Given the description of an element on the screen output the (x, y) to click on. 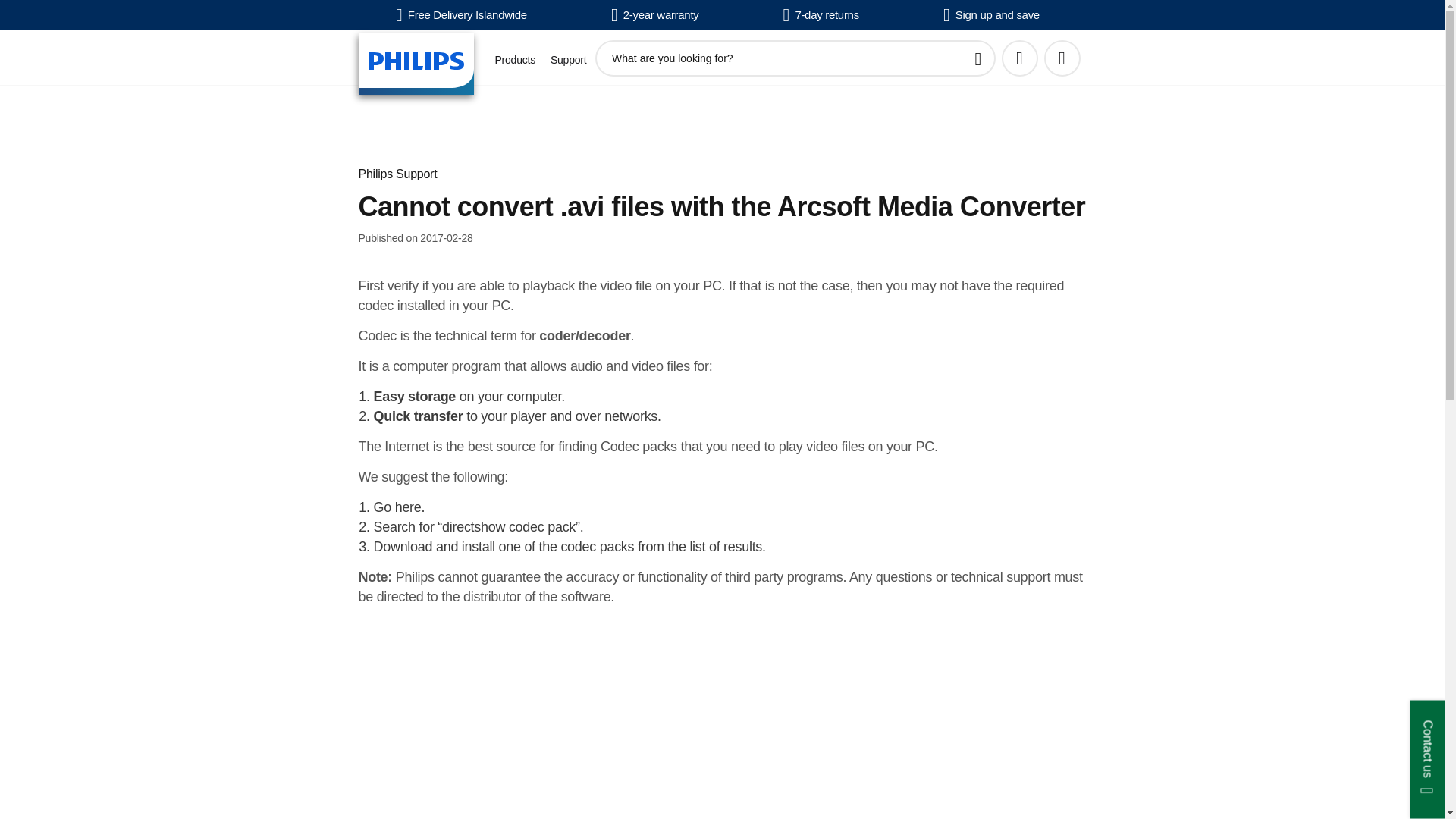
Products (513, 59)
Home (415, 64)
